Given the description of an element on the screen output the (x, y) to click on. 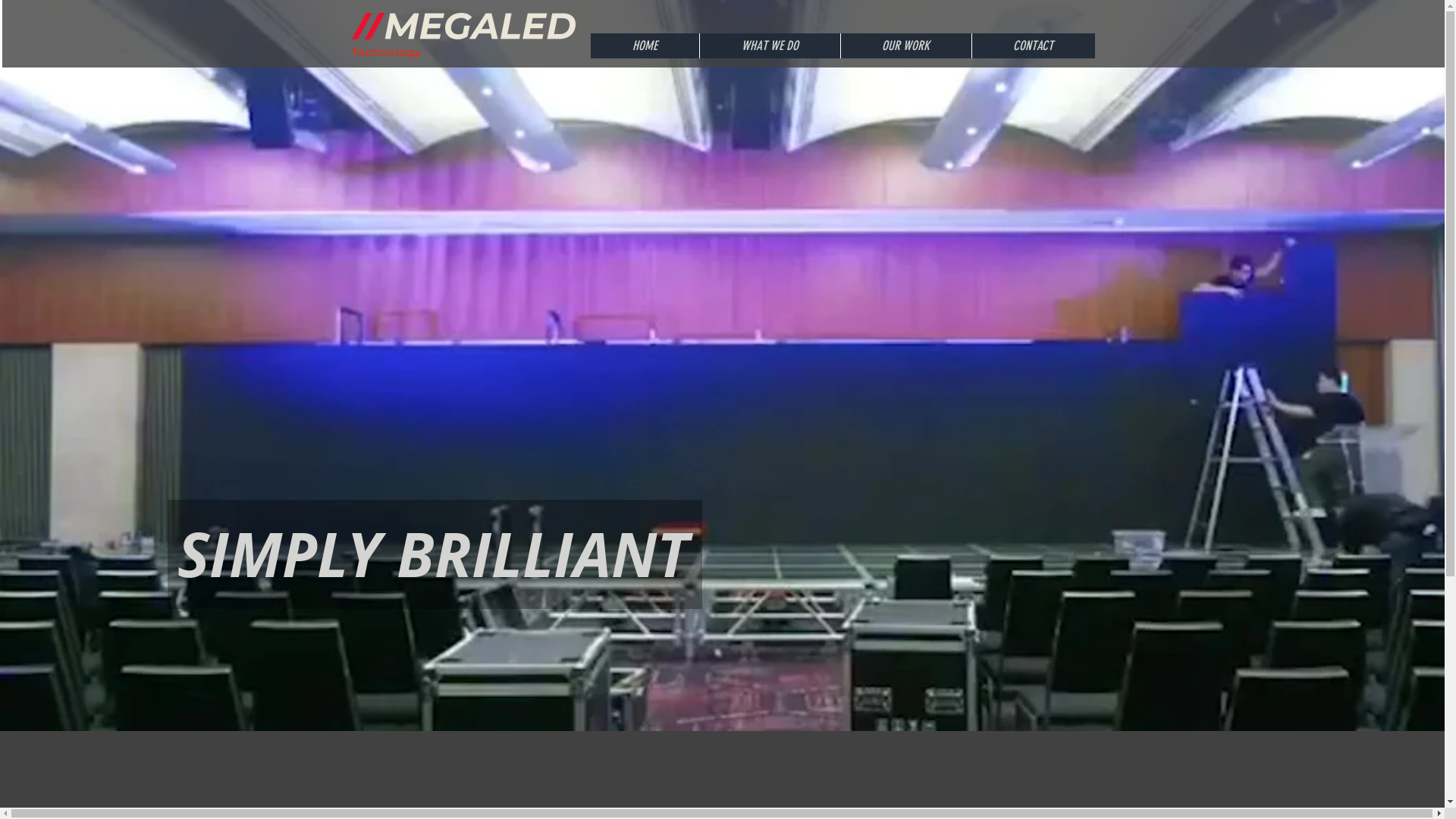
WHAT WE DO Element type: text (769, 45)
OUR WORK Element type: text (905, 45)
CONTACT Element type: text (1032, 45)
HOME Element type: text (643, 45)
